Given the description of an element on the screen output the (x, y) to click on. 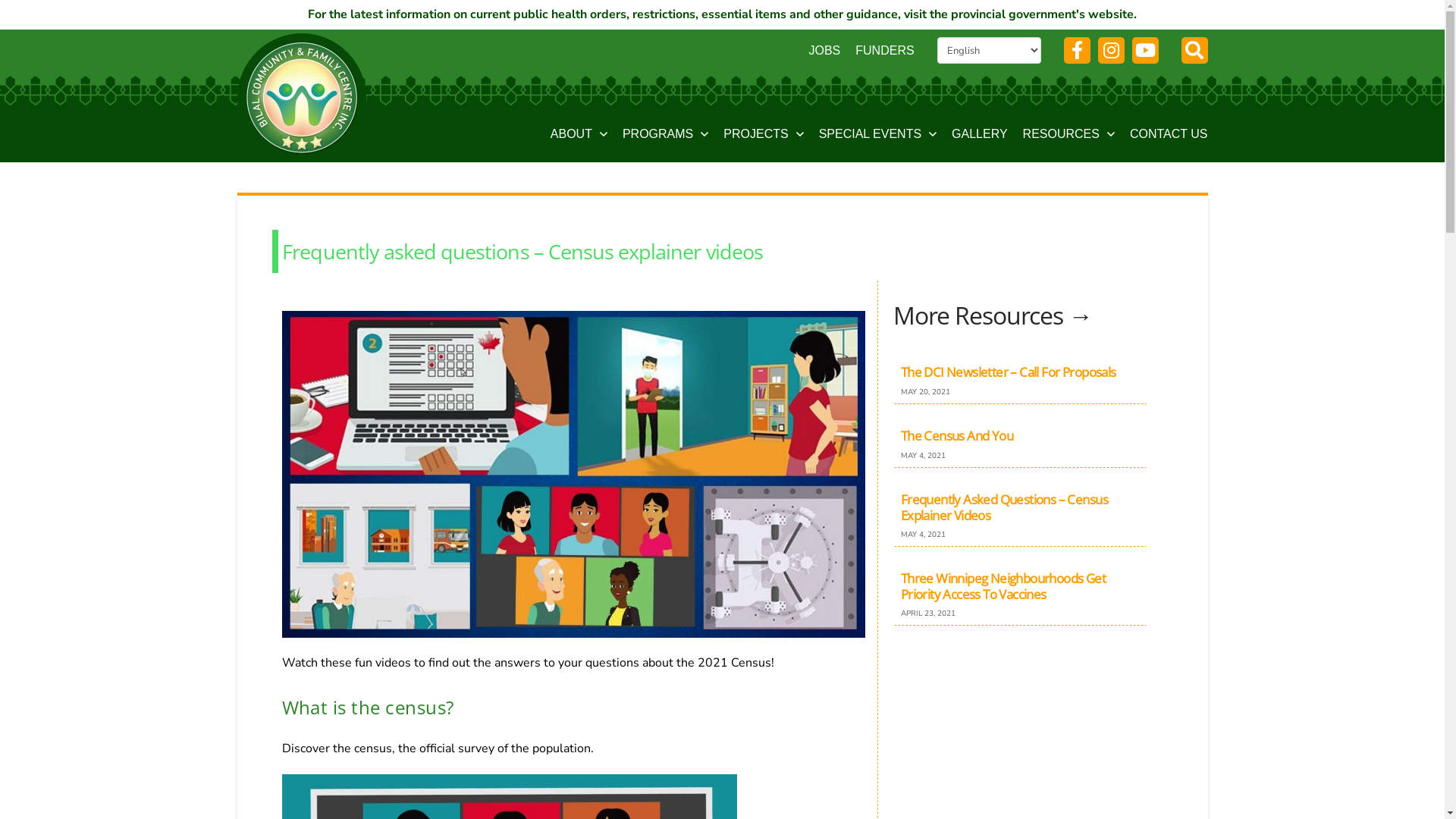
JOBS Element type: text (824, 50)
PROJECTS Element type: text (763, 135)
RESOURCES Element type: text (1068, 135)
The Census And You
MAY 4, 2021 Element type: text (1020, 440)
GALLERY Element type: text (979, 135)
PROGRAMS Element type: text (665, 135)
FUNDERS Element type: text (884, 50)
CONTACT US Element type: text (1168, 135)
SPECIAL EVENTS Element type: text (877, 135)
ABOUT Element type: text (578, 135)
